Given the description of an element on the screen output the (x, y) to click on. 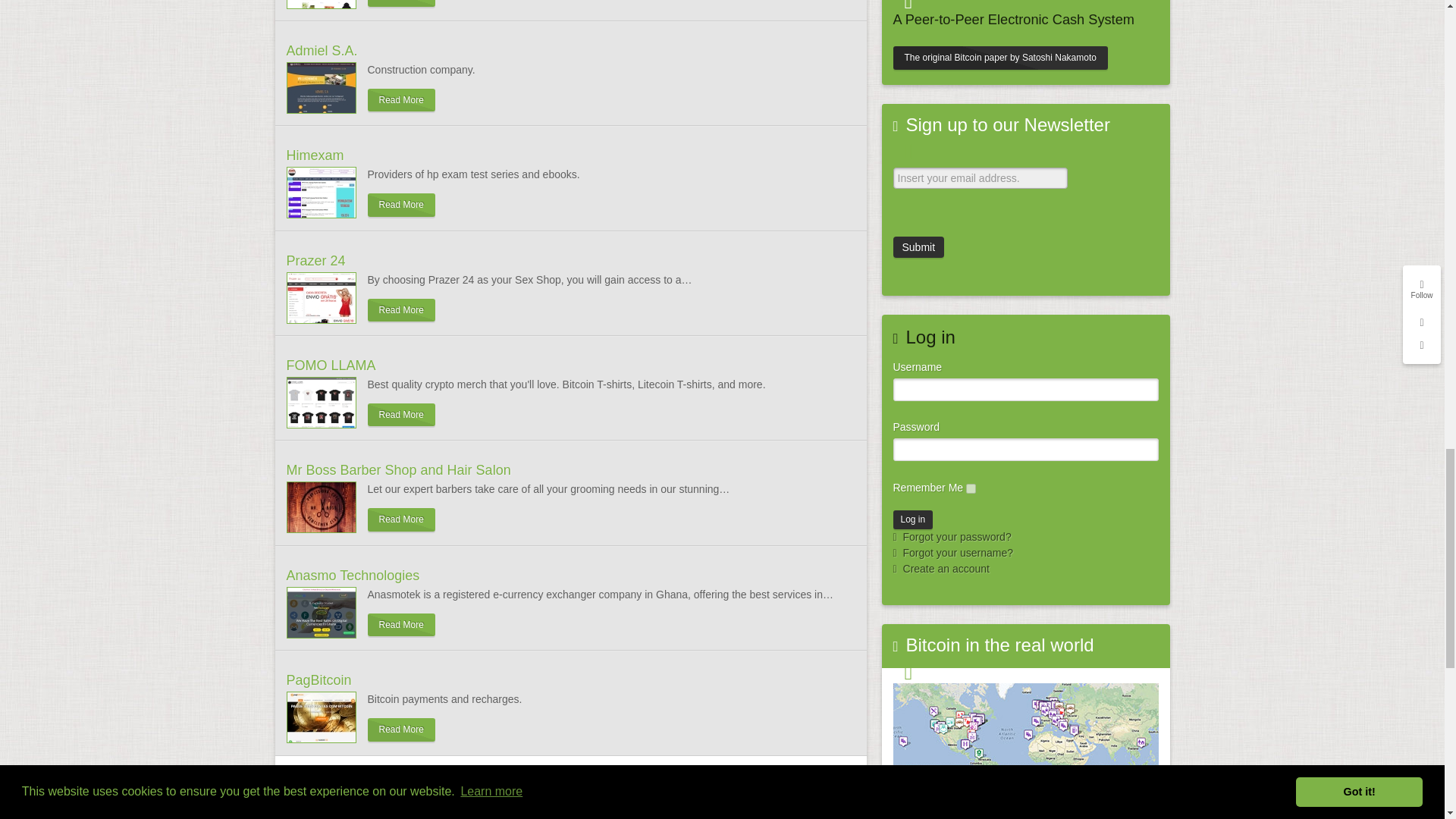
yes (970, 488)
Submit (918, 246)
Log in (913, 519)
